Given the description of an element on the screen output the (x, y) to click on. 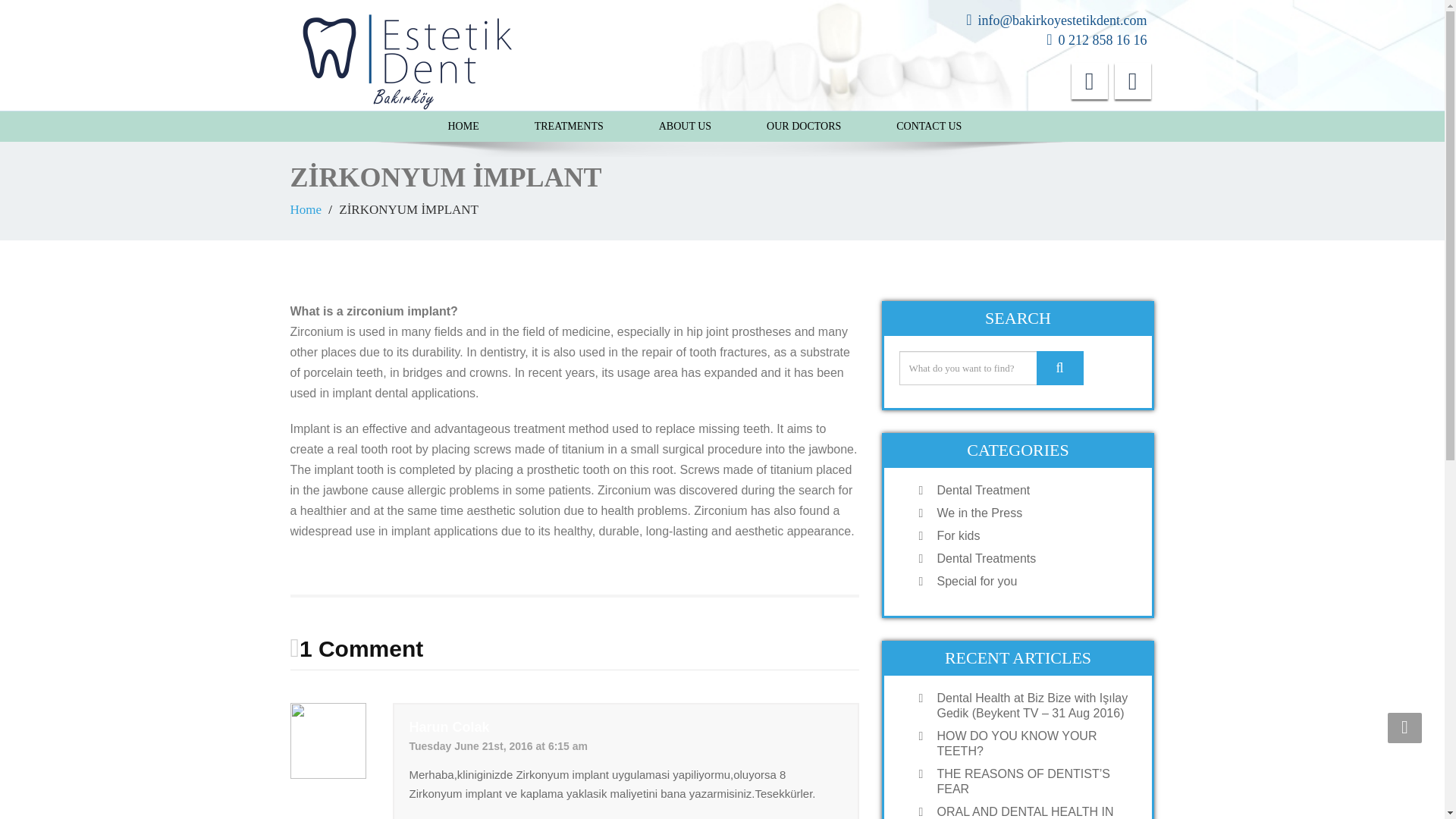
Dental Treatments (1033, 558)
Home (305, 209)
ORAL AND DENTAL HEALTH IN OLD INDIVIDUALS (1033, 811)
We in the Press (1033, 513)
ABOUT US (684, 126)
HOME (462, 126)
For kids (1033, 535)
Special for you (1033, 581)
0 212 858 16 16 (1102, 39)
OUR DOCTORS (803, 126)
Dental Treatment (1033, 490)
CONTACT US (928, 126)
HOW DO YOU KNOW YOUR TEETH? (1033, 743)
TREATMENTS (568, 126)
